Given the description of an element on the screen output the (x, y) to click on. 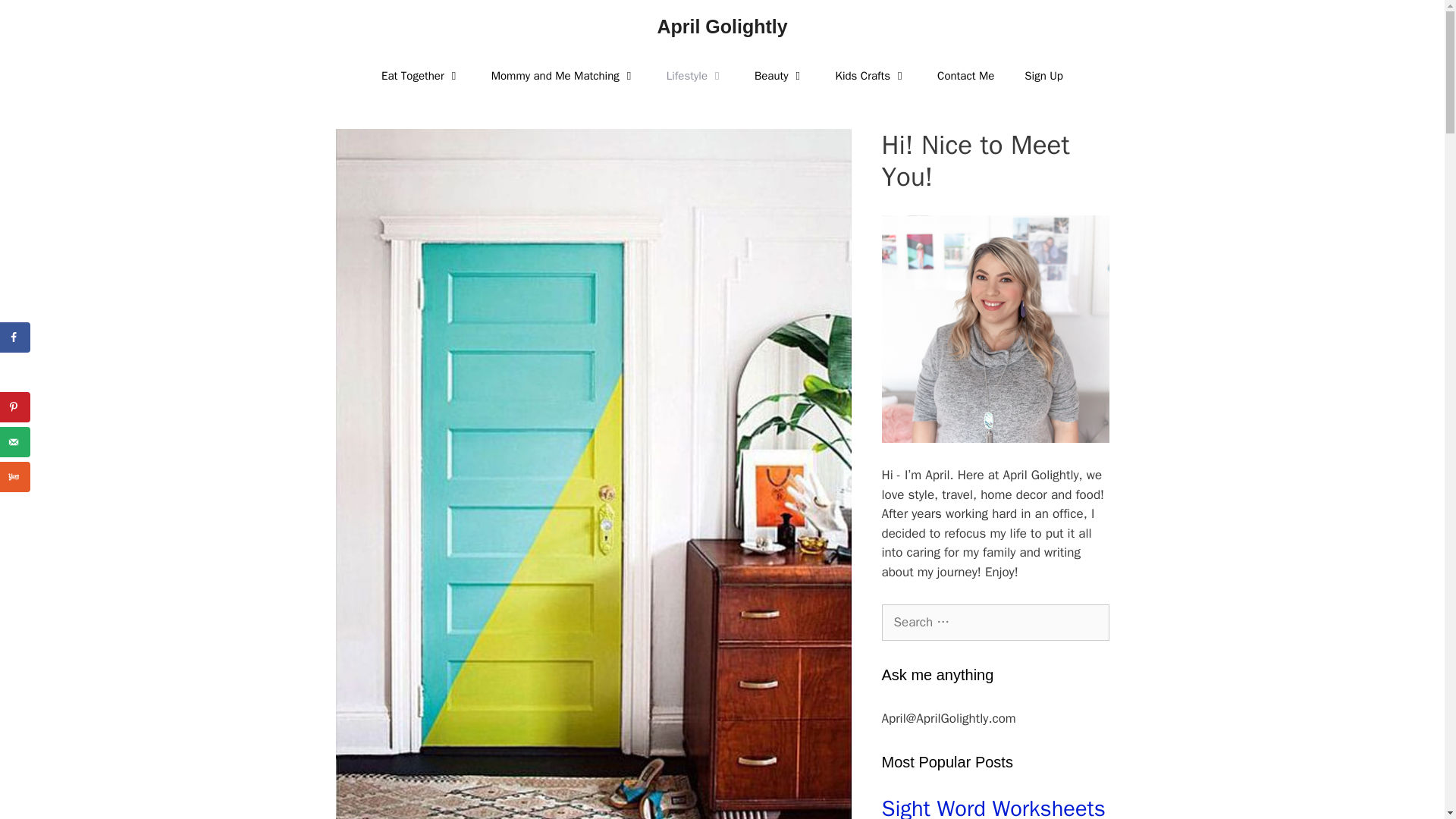
Lifestyle (694, 75)
April Golightly (721, 25)
Eat Together (421, 75)
Sign Up (1043, 75)
Sight Word Worksheets FREE Printables (994, 807)
Kids Crafts (872, 75)
Search for: (994, 622)
Beauty (780, 75)
Contact Me (965, 75)
Mommy and Me Matching (563, 75)
